Given the description of an element on the screen output the (x, y) to click on. 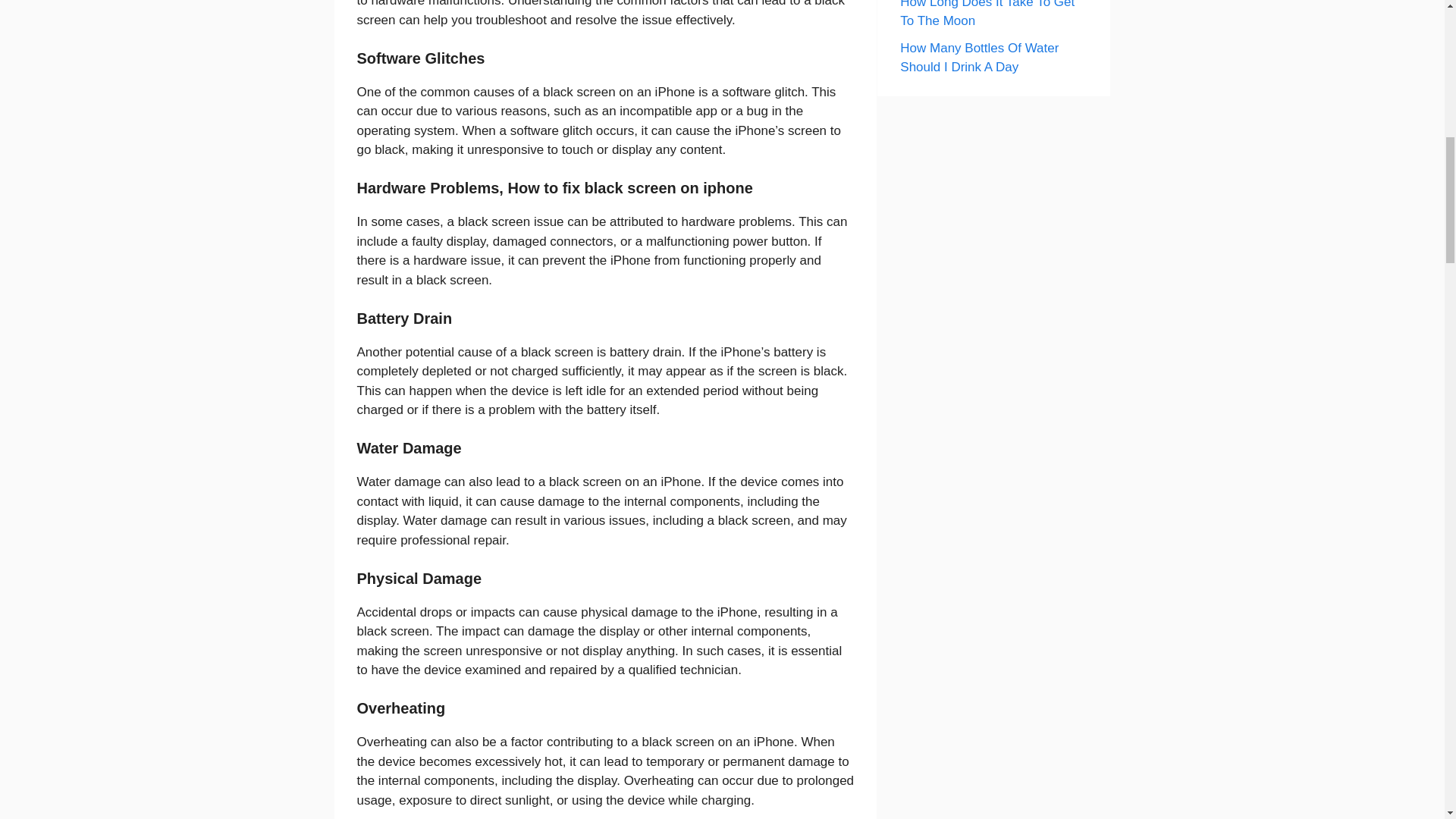
How Many Bottles Of Water Should I Drink A Day (978, 57)
How Long Does It Take To Get To The Moon (986, 13)
